Given the description of an element on the screen output the (x, y) to click on. 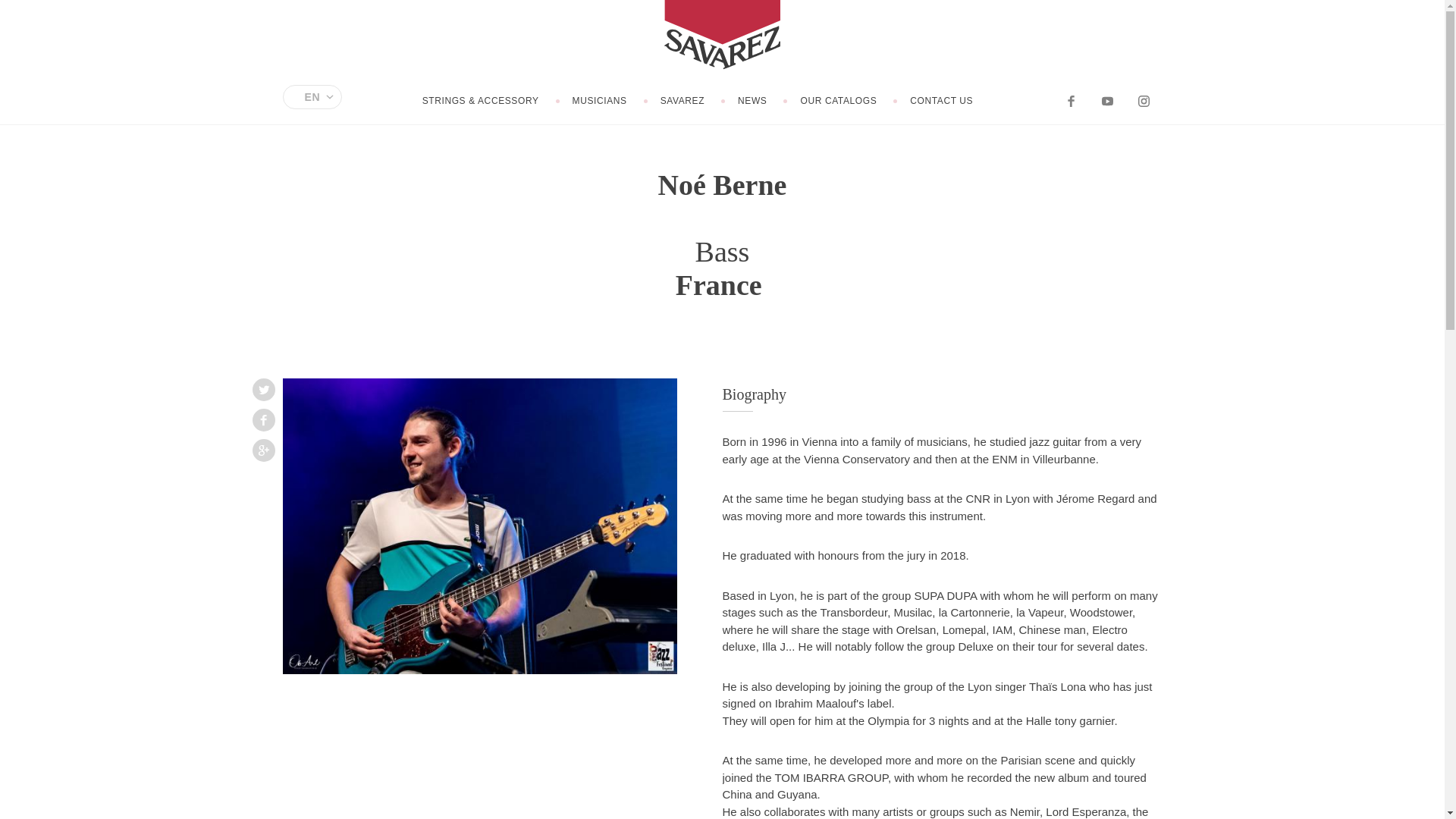
NEWS (752, 100)
SAVAREZ (681, 100)
CONTACT US (941, 100)
Twitter (263, 389)
Partager sur Facebook (263, 419)
Facebook (263, 419)
MUSICIANS (599, 100)
Partager sur Viadeo (263, 449)
SAVAREZ (721, 34)
OUR CATALOGS (837, 100)
EN (312, 96)
Partager sur Twitter (263, 389)
